Given the description of an element on the screen output the (x, y) to click on. 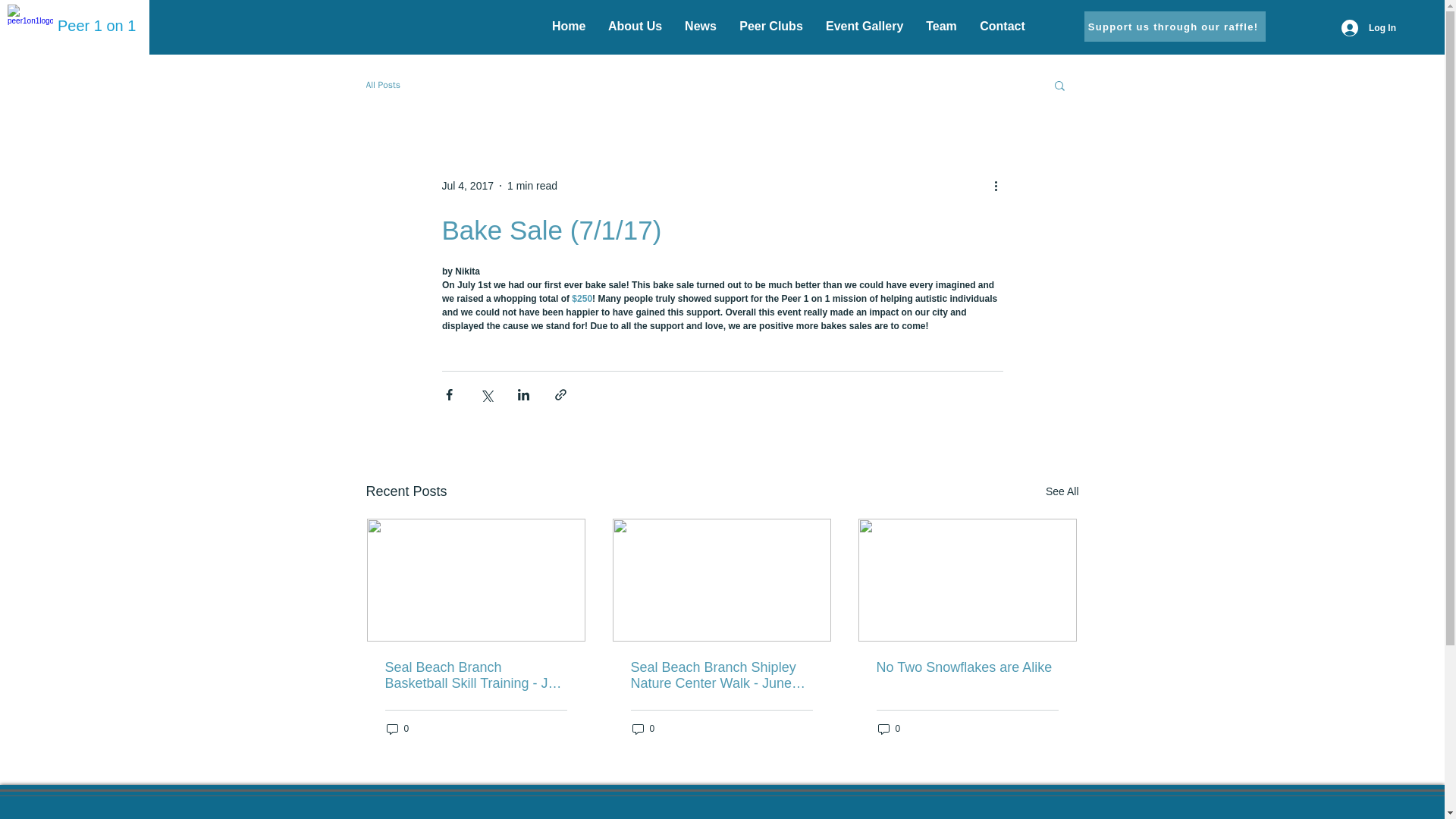
0 (643, 728)
About Us (634, 26)
Jul 4, 2017 (467, 184)
News (700, 26)
Contact (1002, 26)
See All (1061, 491)
Peer Clubs (770, 26)
No Two Snowflakes are Alike (967, 667)
Team (941, 26)
Peer 1 on 1 (96, 25)
